Given the description of an element on the screen output the (x, y) to click on. 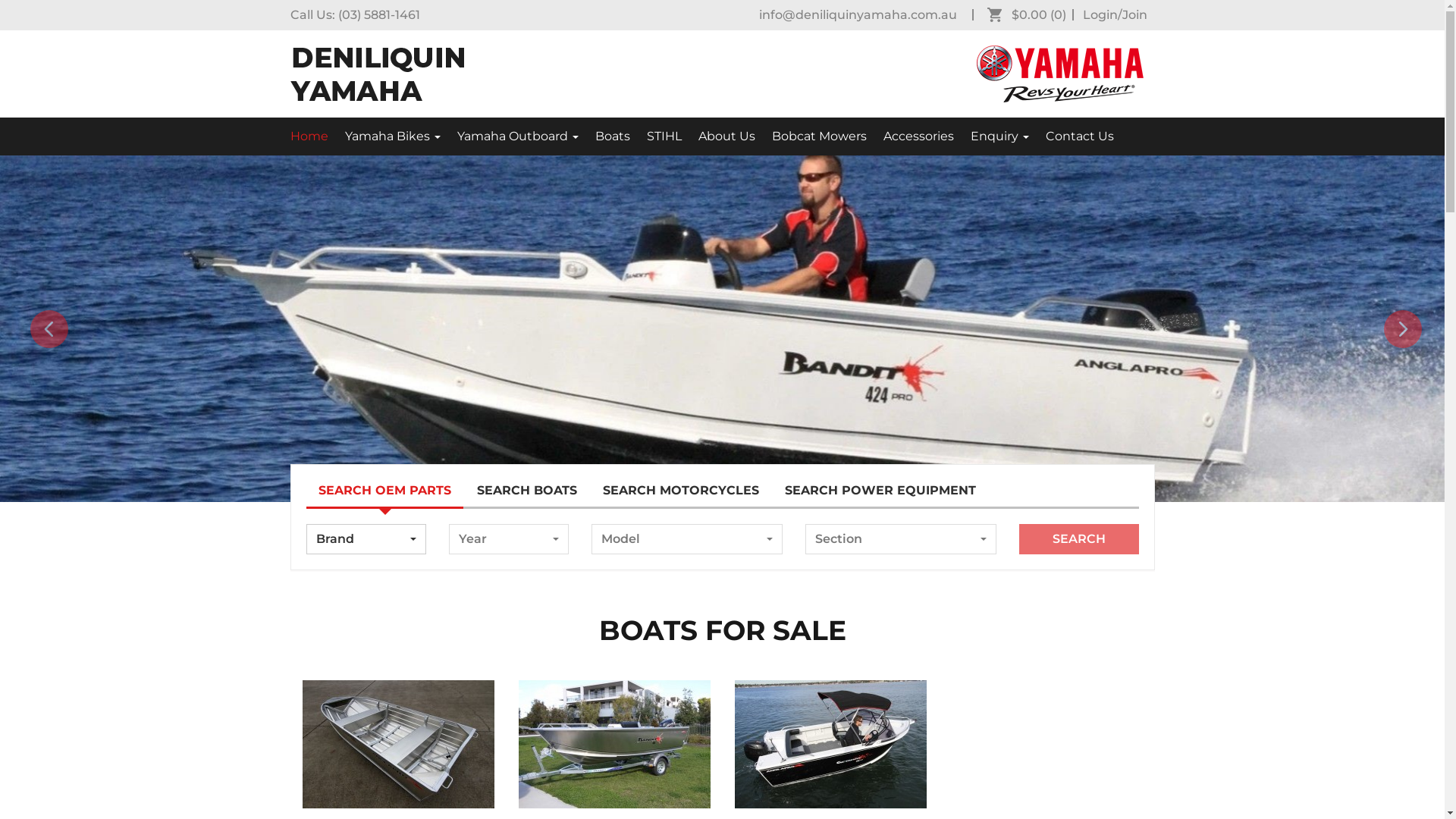
Contact Us Element type: text (1079, 136)
SEARCH MOTORCYCLES Element type: text (679, 505)
(03) 5881-1461 Element type: text (379, 15)
Enquiry Element type: text (998, 136)
Model Element type: text (686, 554)
Accessories Element type: text (918, 136)
Boats Element type: text (612, 136)
Home Element type: text (312, 136)
Year Element type: text (508, 554)
About Us Element type: text (726, 136)
Section Element type: text (900, 554)
Bobcat Mowers Element type: text (818, 136)
$0.00 (0) Element type: text (1030, 15)
SEARCH BOATS Element type: text (526, 505)
Next Element type: hover (1402, 335)
SEARCH OEM PARTS Element type: text (384, 506)
Brand Element type: text (366, 554)
info@deniliquinyamaha.com.au Element type: text (856, 15)
STIHL Element type: text (664, 136)
Login/Join Element type: text (1114, 15)
Yamaha Outboard Element type: text (517, 136)
SEARCH POWER EQUIPMENT Element type: text (879, 505)
SEARCH Element type: text (1079, 554)
Deniliquin Yamaha Element type: hover (376, 73)
Previous Element type: hover (49, 335)
Yamaha Bikes Element type: text (392, 136)
